Given the description of an element on the screen output the (x, y) to click on. 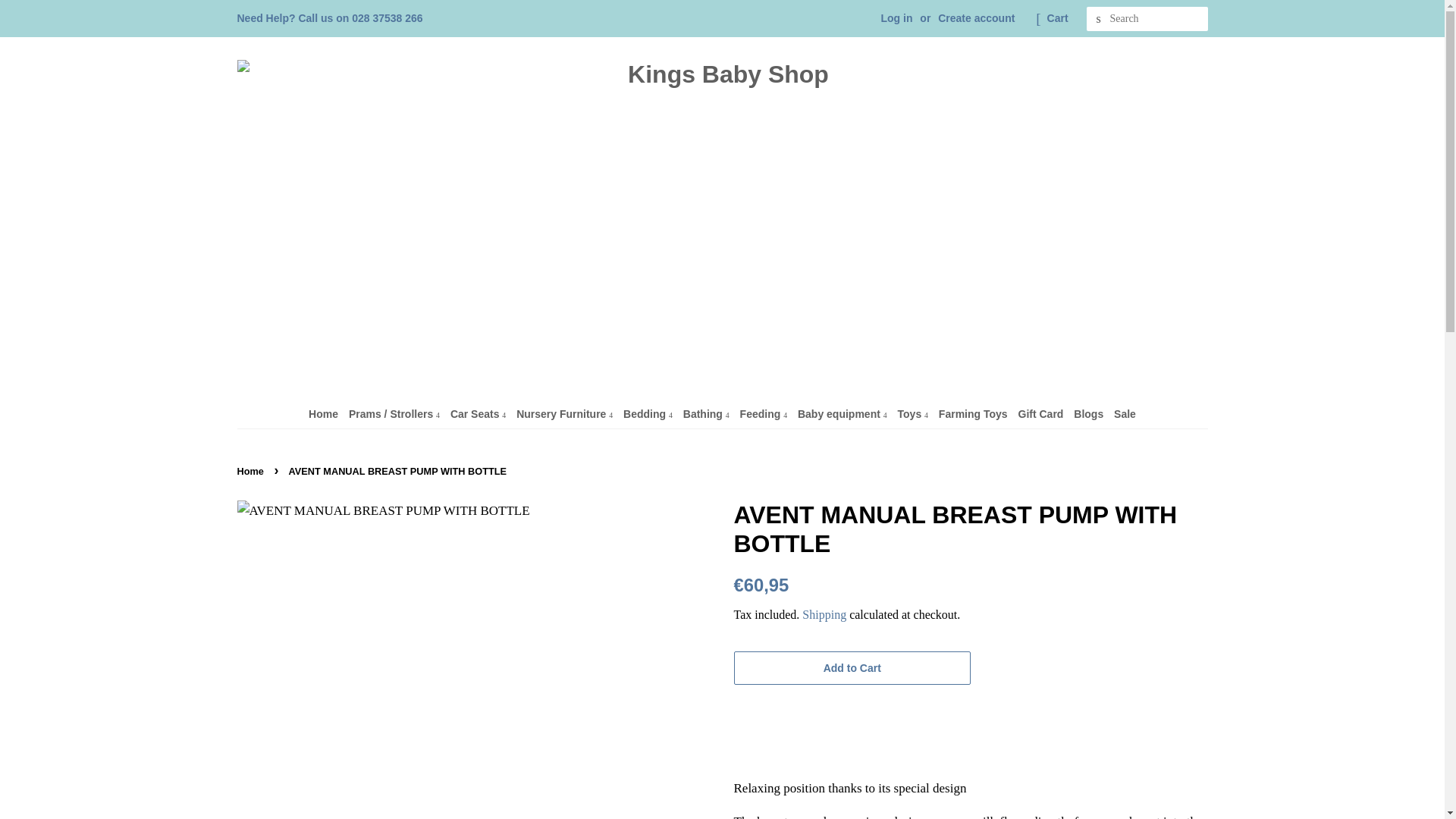
Log in (896, 18)
Back to the frontpage (250, 471)
Cart (1057, 18)
Create account (975, 18)
Search (1097, 18)
